Given the description of an element on the screen output the (x, y) to click on. 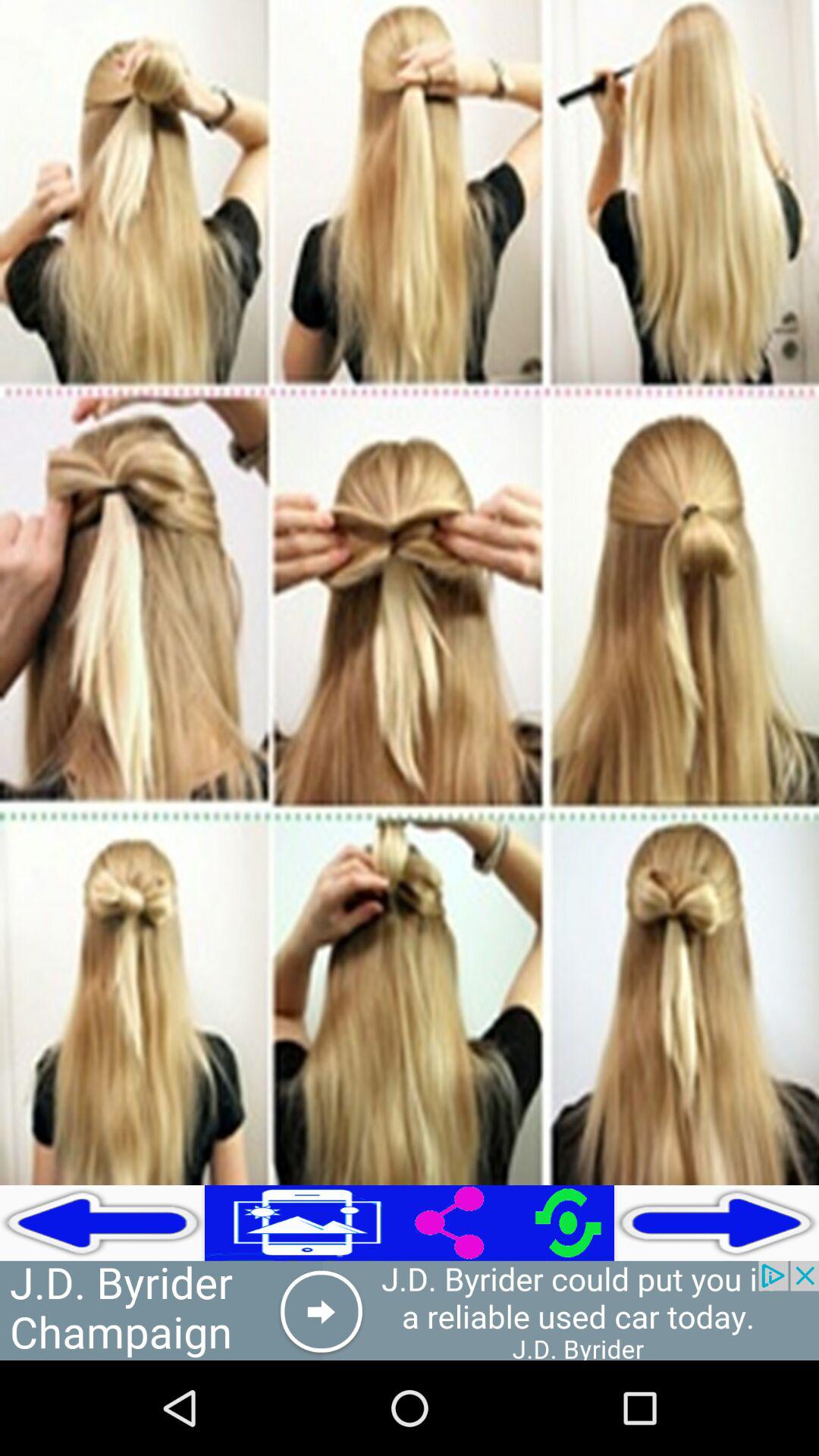
back arrow (102, 1222)
